Given the description of an element on the screen output the (x, y) to click on. 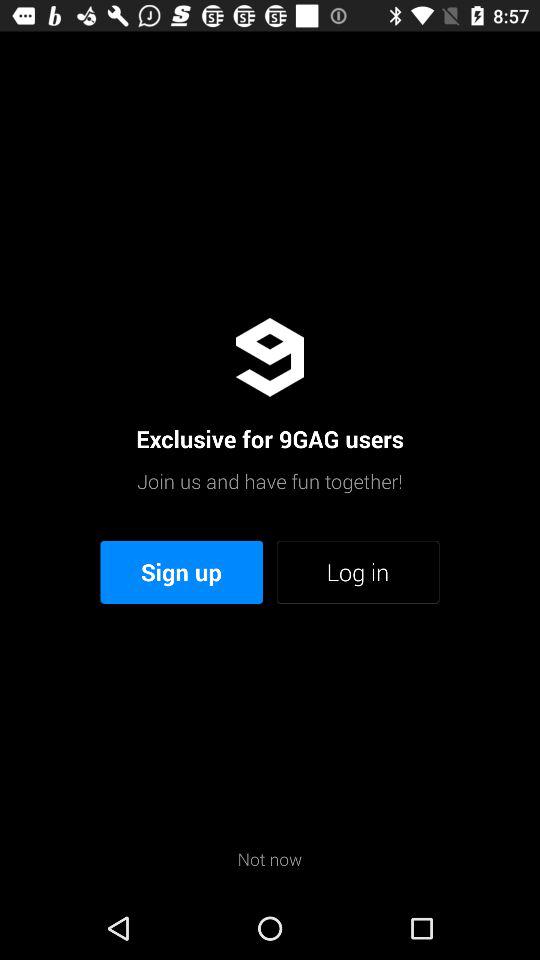
turn on item to the left of the log in (181, 571)
